Given the description of an element on the screen output the (x, y) to click on. 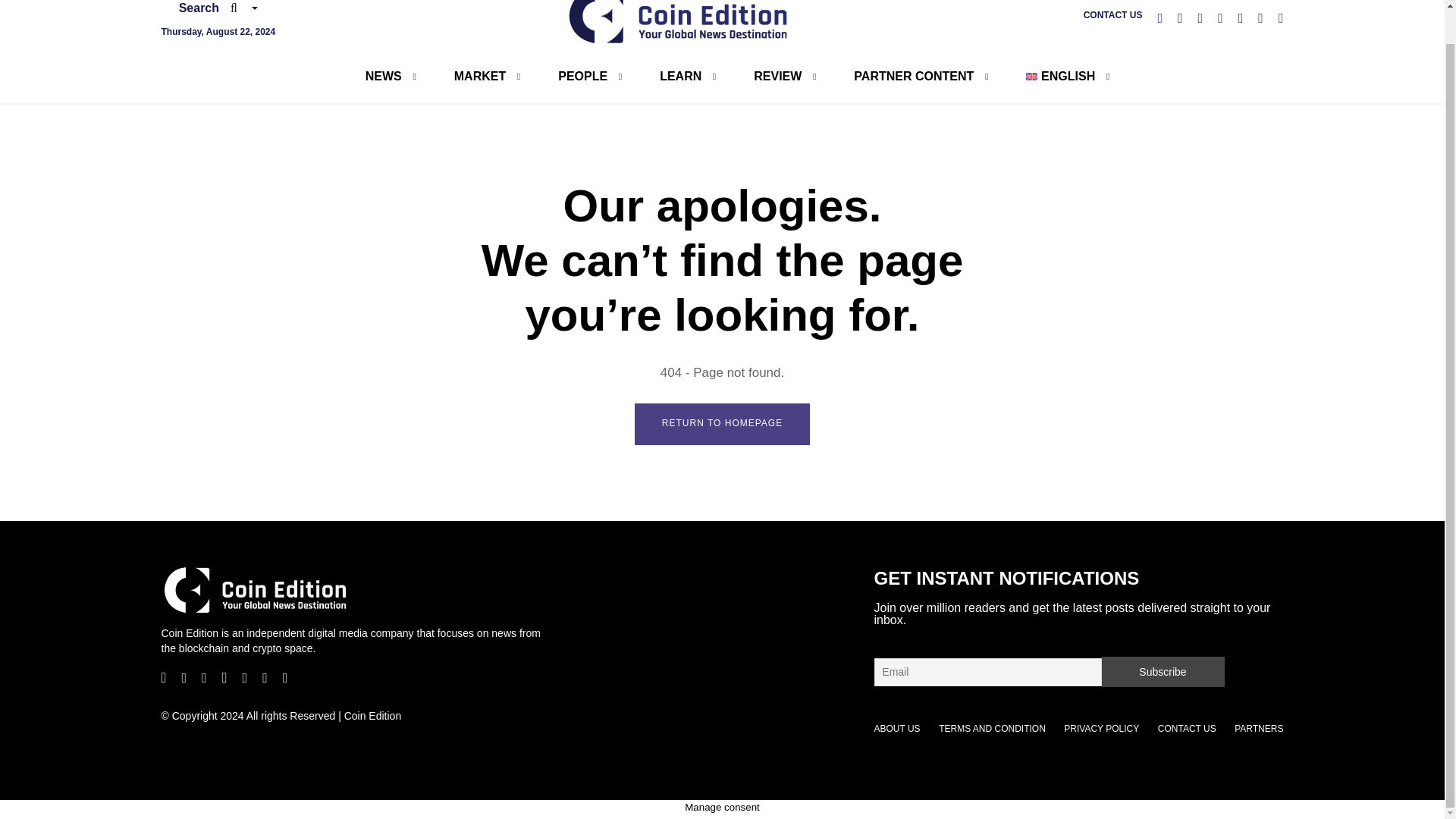
Coin Edition (679, 22)
English (1060, 76)
Subscribe (1162, 671)
